Given the description of an element on the screen output the (x, y) to click on. 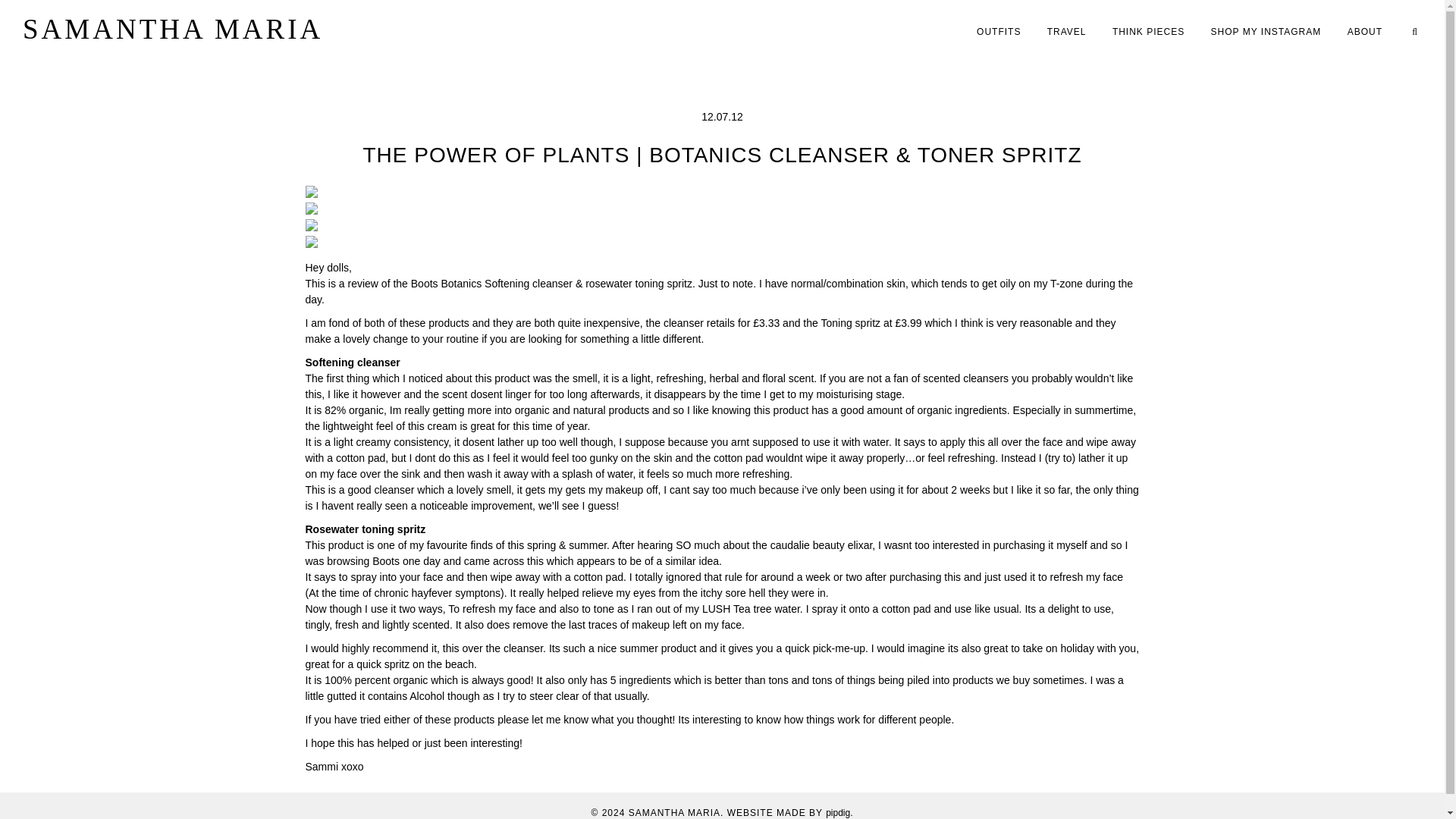
WEBSITE MADE BY pipdig (788, 811)
SAMANTHA MARIA (173, 29)
OUTFITS (998, 31)
THINK PIECES (1148, 31)
SHOP MY INSTAGRAM (1266, 31)
TRAVEL (1066, 31)
ABOUT (1364, 31)
